Given the description of an element on the screen output the (x, y) to click on. 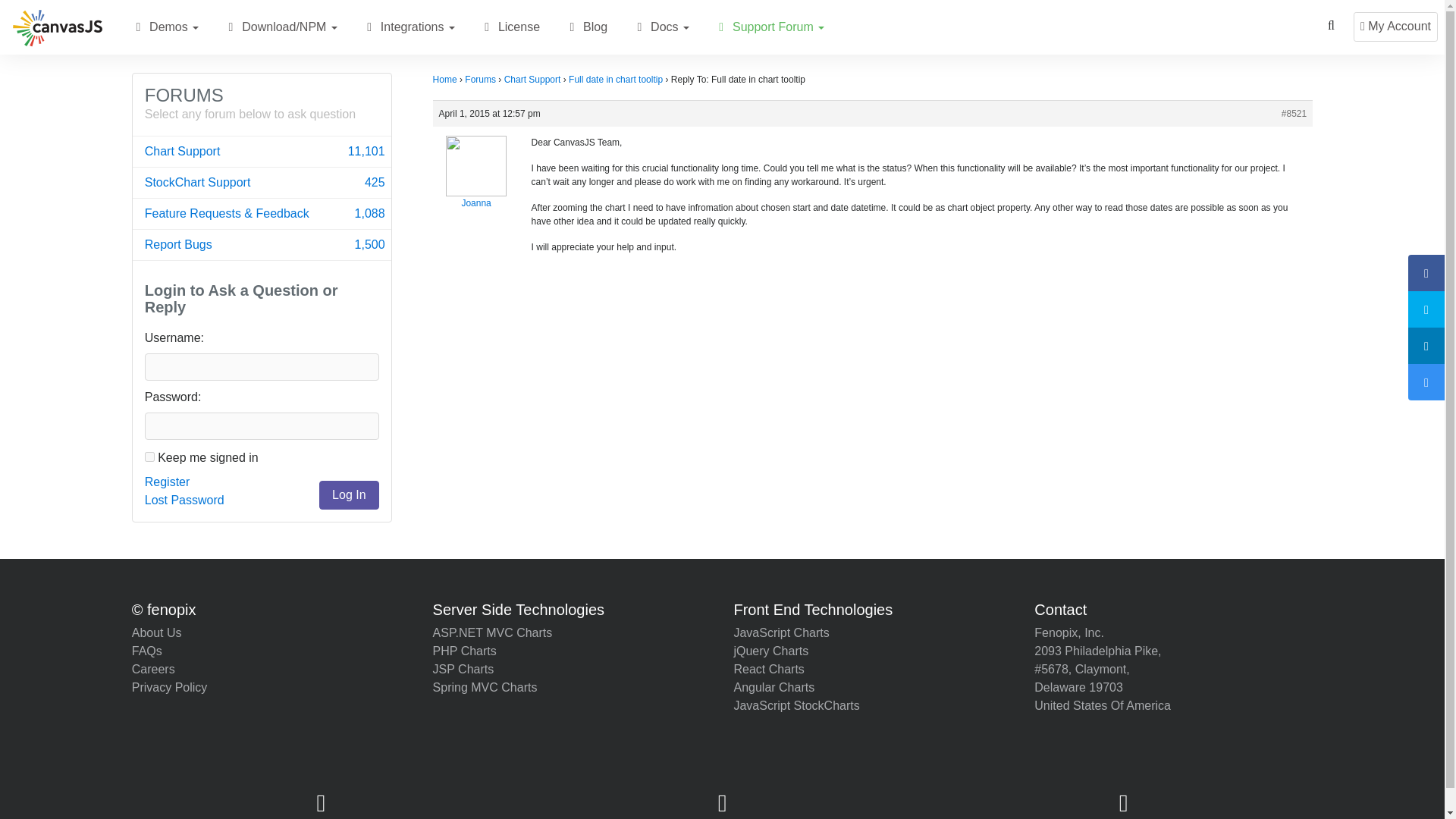
Docs (660, 27)
Lost Password (184, 500)
Download (261, 151)
Home (230, 27)
Support Forum (444, 79)
Demos (721, 27)
License (171, 27)
Integrations (487, 27)
forever (369, 27)
